Given the description of an element on the screen output the (x, y) to click on. 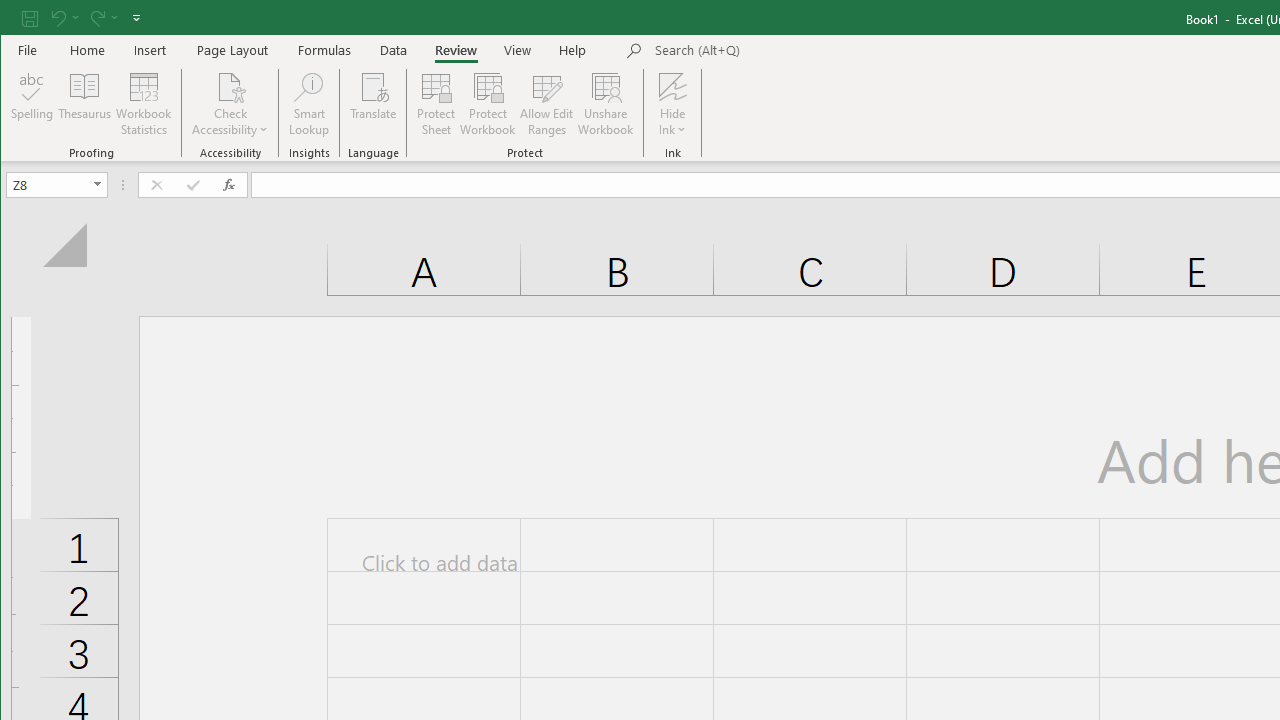
Smart Lookup (308, 104)
Home (87, 50)
Quick Access Toolbar (83, 17)
Unshare Workbook (606, 104)
Save (29, 17)
